Given the description of an element on the screen output the (x, y) to click on. 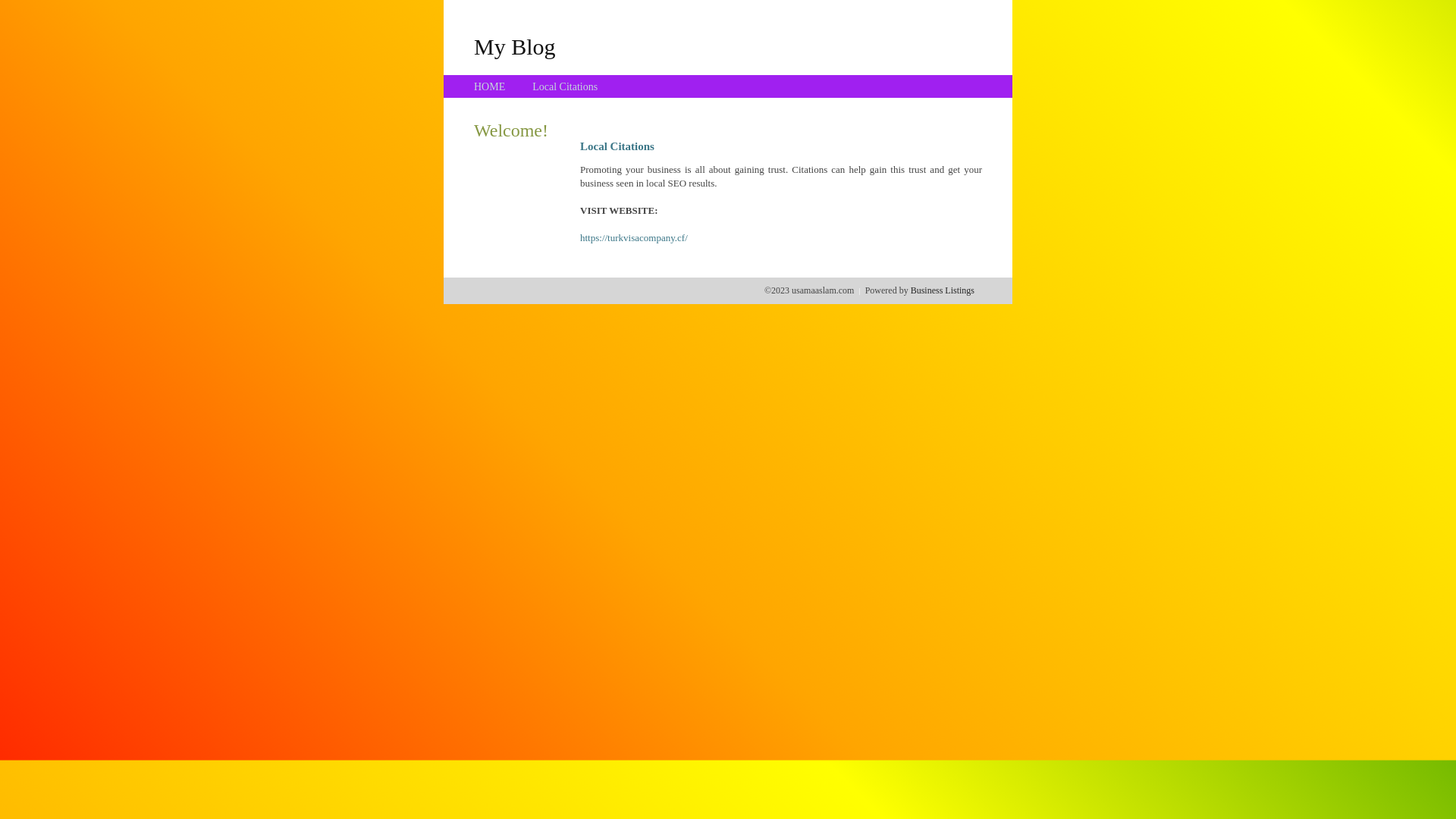
HOME Element type: text (489, 86)
Local Citations Element type: text (564, 86)
Business Listings Element type: text (942, 290)
https://turkvisacompany.cf/ Element type: text (633, 237)
My Blog Element type: text (514, 46)
